Given the description of an element on the screen output the (x, y) to click on. 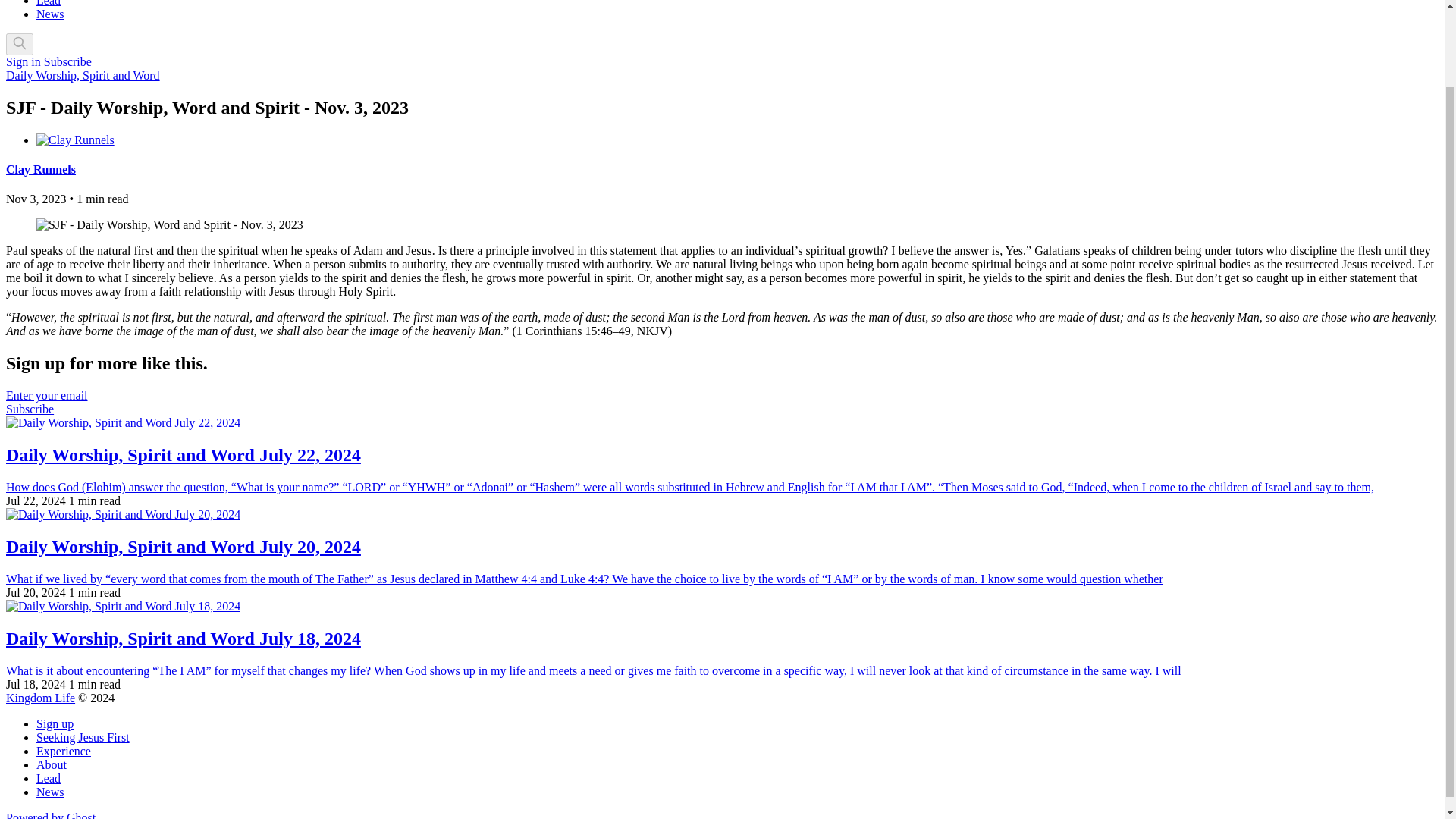
Lead (48, 3)
Experience (63, 750)
Sign in (22, 61)
Subscribe (67, 61)
Lead (48, 778)
Seeking Jesus First (82, 737)
News (50, 13)
About (51, 764)
Daily Worship, Spirit and Word (82, 74)
News (50, 791)
Sign up (55, 723)
Kingdom Life (40, 697)
Clay Runnels (40, 169)
